Given the description of an element on the screen output the (x, y) to click on. 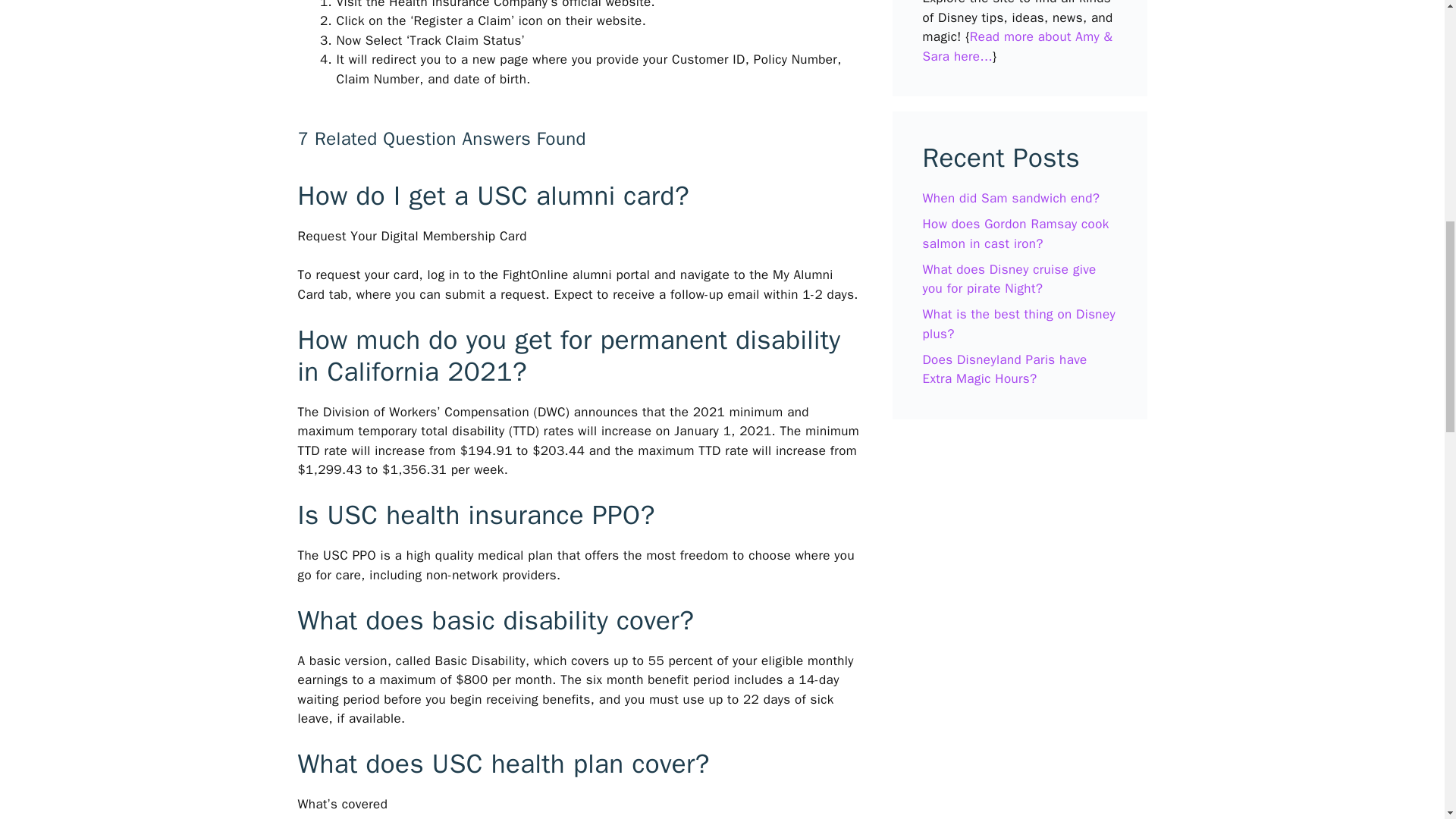
Does Disneyland Paris have Extra Magic Hours? (1003, 369)
What does Disney cruise give you for pirate Night? (1008, 279)
How does Gordon Ramsay cook salmon in cast iron? (1014, 233)
What is the best thing on Disney plus? (1018, 324)
When did Sam sandwich end? (1010, 198)
